Given the description of an element on the screen output the (x, y) to click on. 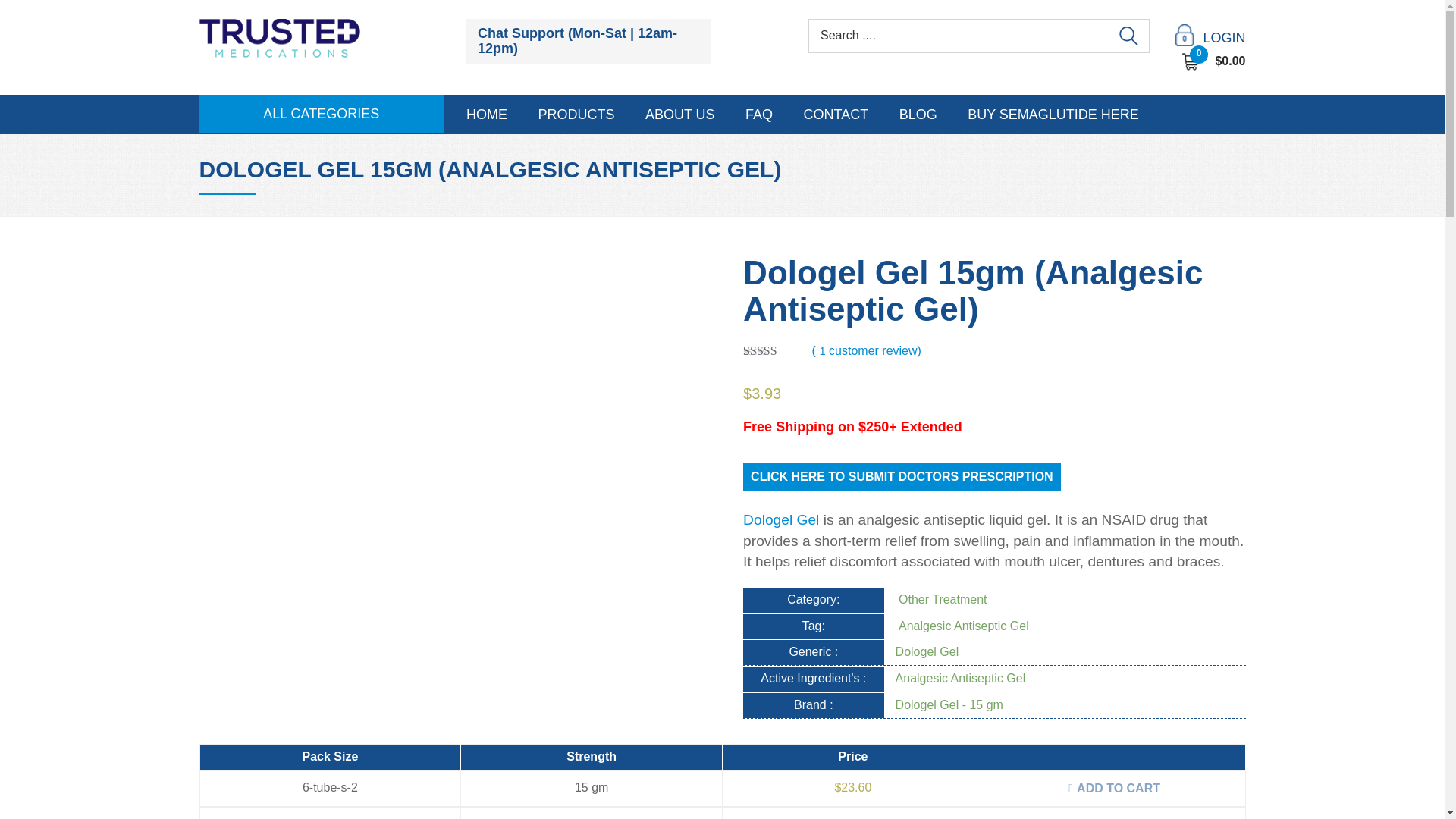
LOGIN (1209, 37)
Trusted Medications Pharmacy (278, 37)
ALL CATEGORIES (321, 114)
View your shopping cart (1214, 61)
